Given the description of an element on the screen output the (x, y) to click on. 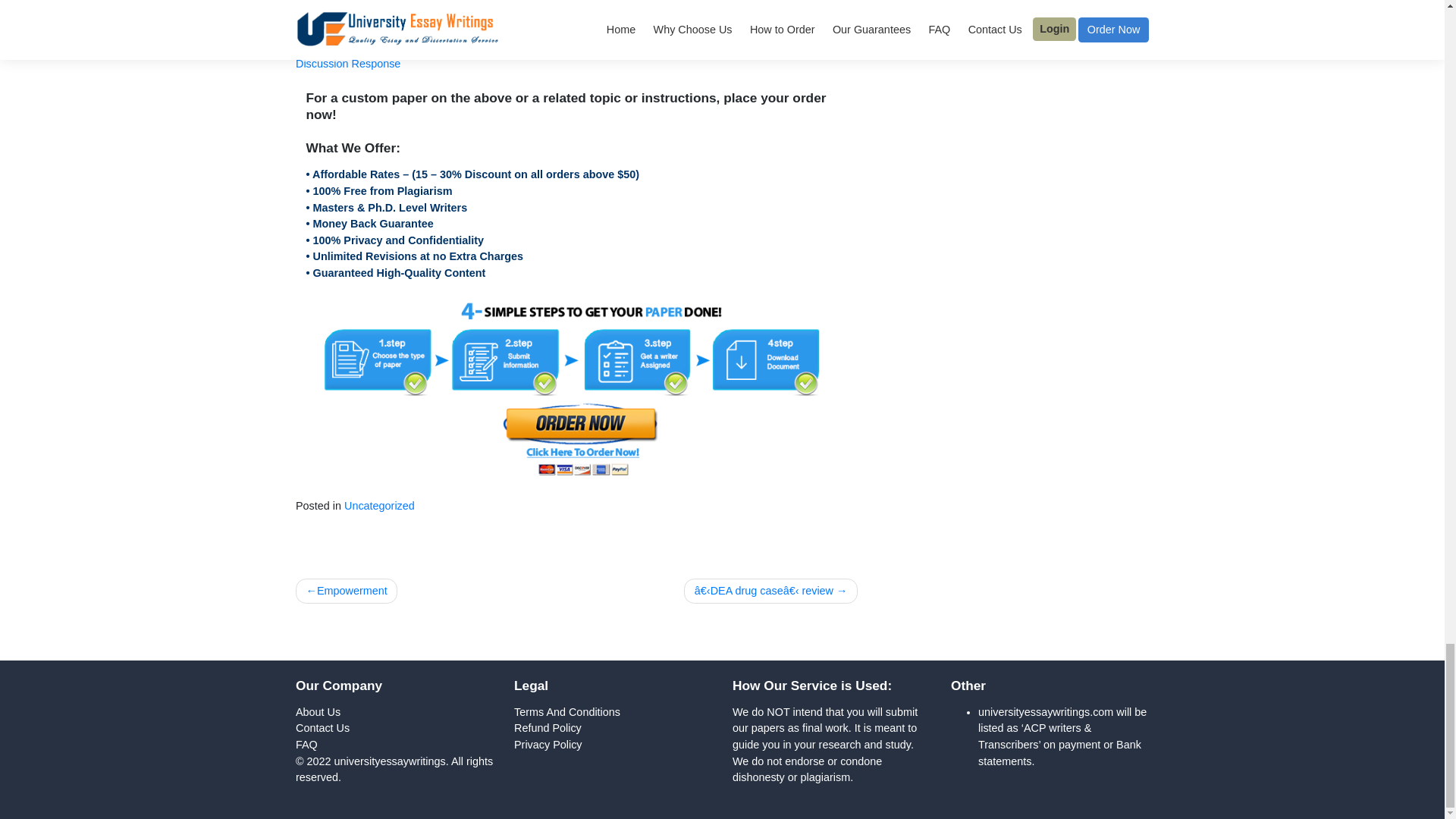
Discussion Response (387, 421)
